Given the description of an element on the screen output the (x, y) to click on. 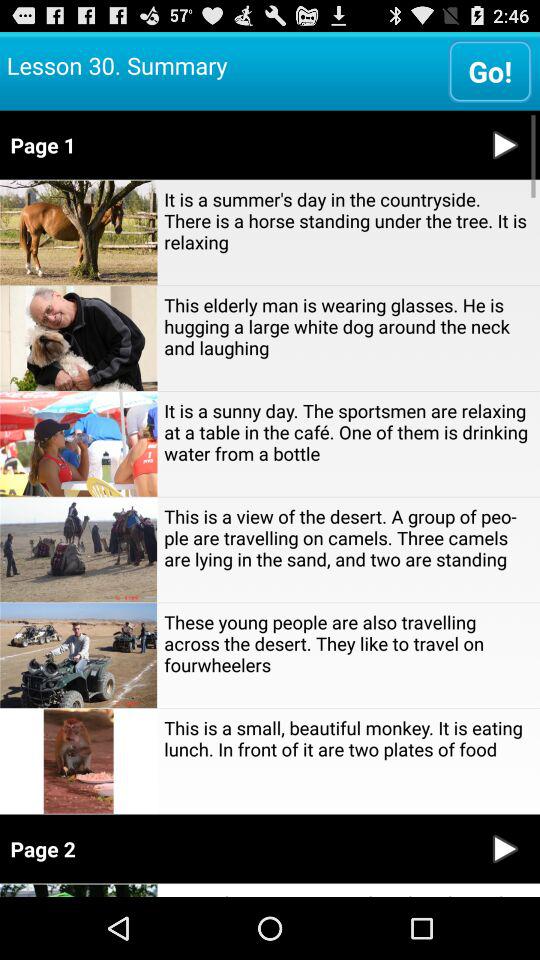
scroll until page 2 item (235, 848)
